Given the description of an element on the screen output the (x, y) to click on. 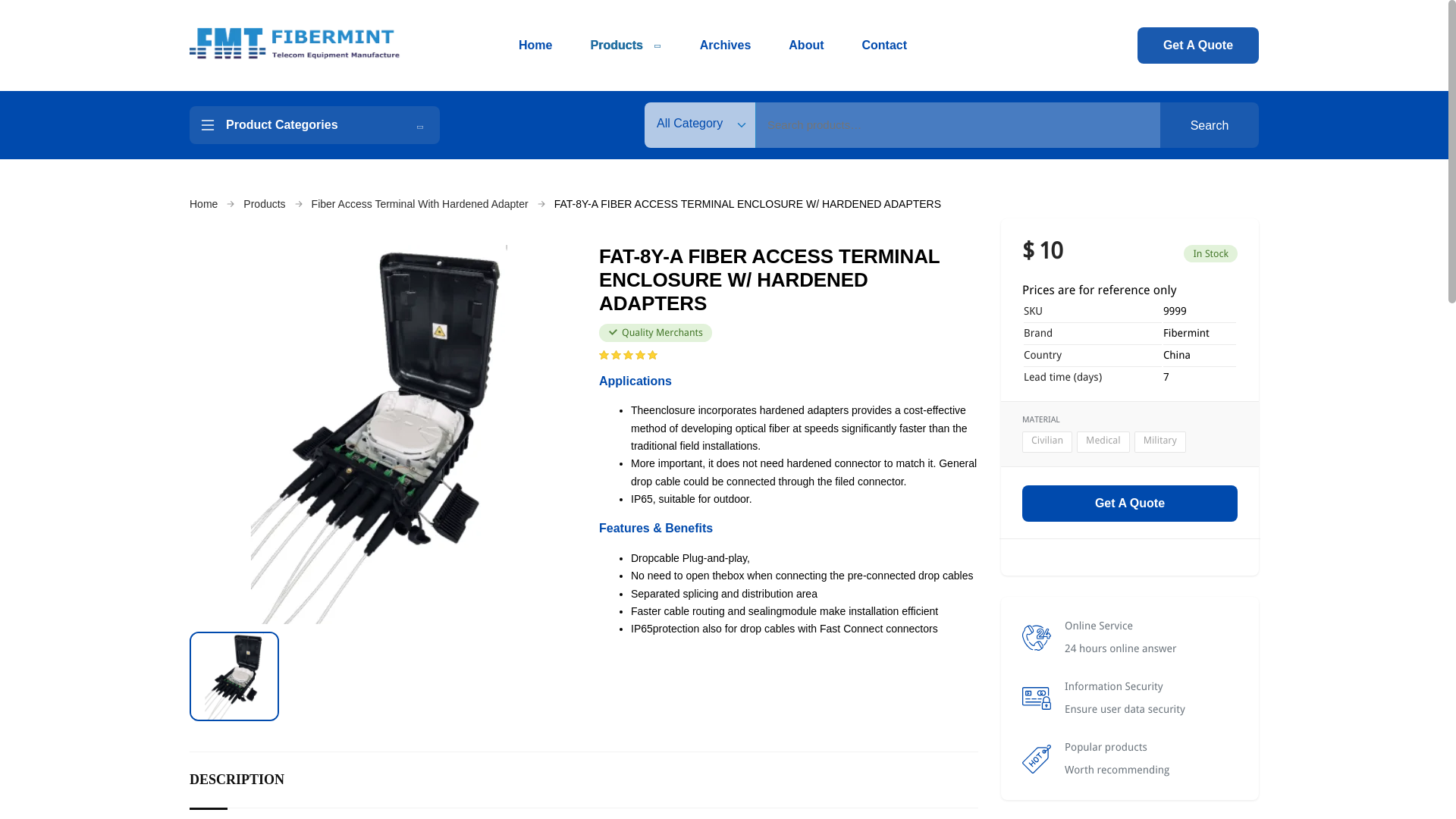
Archives (725, 45)
About (806, 45)
Contact (884, 45)
Products (625, 45)
Get A Quote (1198, 45)
FIBERMINT (295, 45)
